Given the description of an element on the screen output the (x, y) to click on. 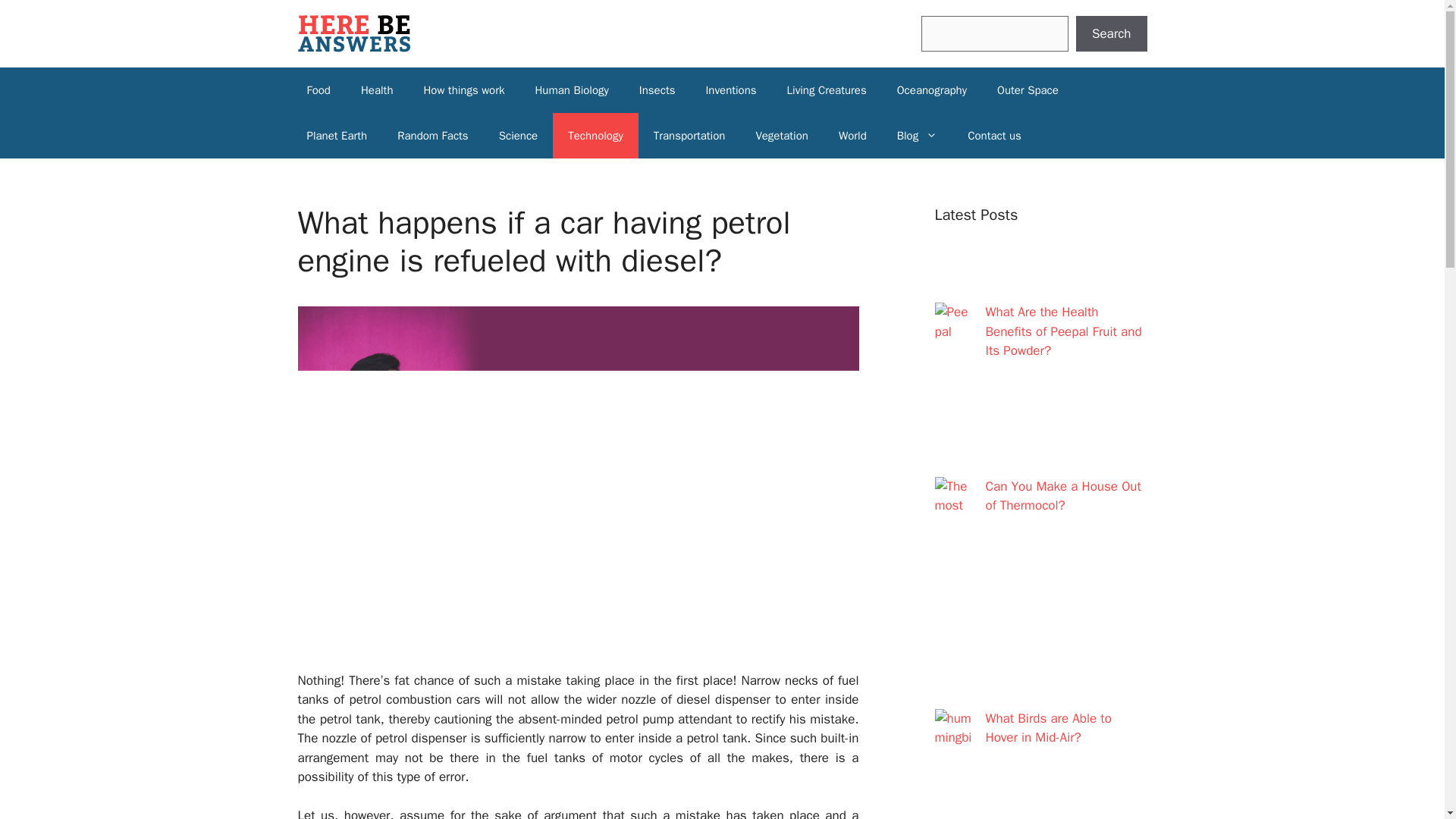
Technology (596, 135)
Food (318, 90)
Human Biology (571, 90)
Outer Space (1027, 90)
What Are the Health Benefits of Peepal Fruit and Its Powder? (1063, 330)
Inventions (730, 90)
Vegetation (781, 135)
How things work (463, 90)
Living Creatures (826, 90)
Insects (657, 90)
